Given the description of an element on the screen output the (x, y) to click on. 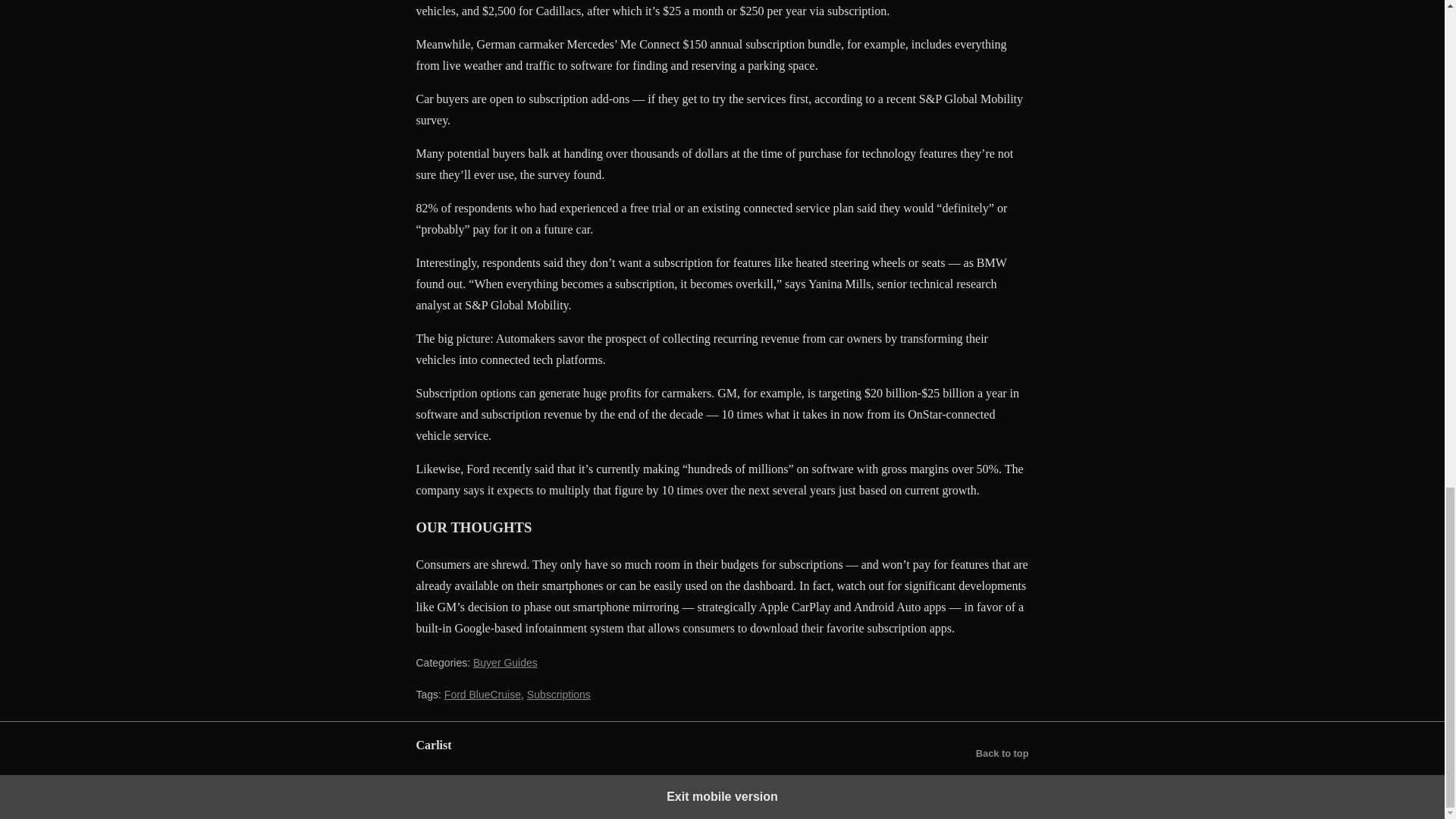
Buyer Guides (505, 662)
Ford BlueCruise (482, 694)
Subscriptions (559, 694)
Back to top (1002, 753)
